Given the description of an element on the screen output the (x, y) to click on. 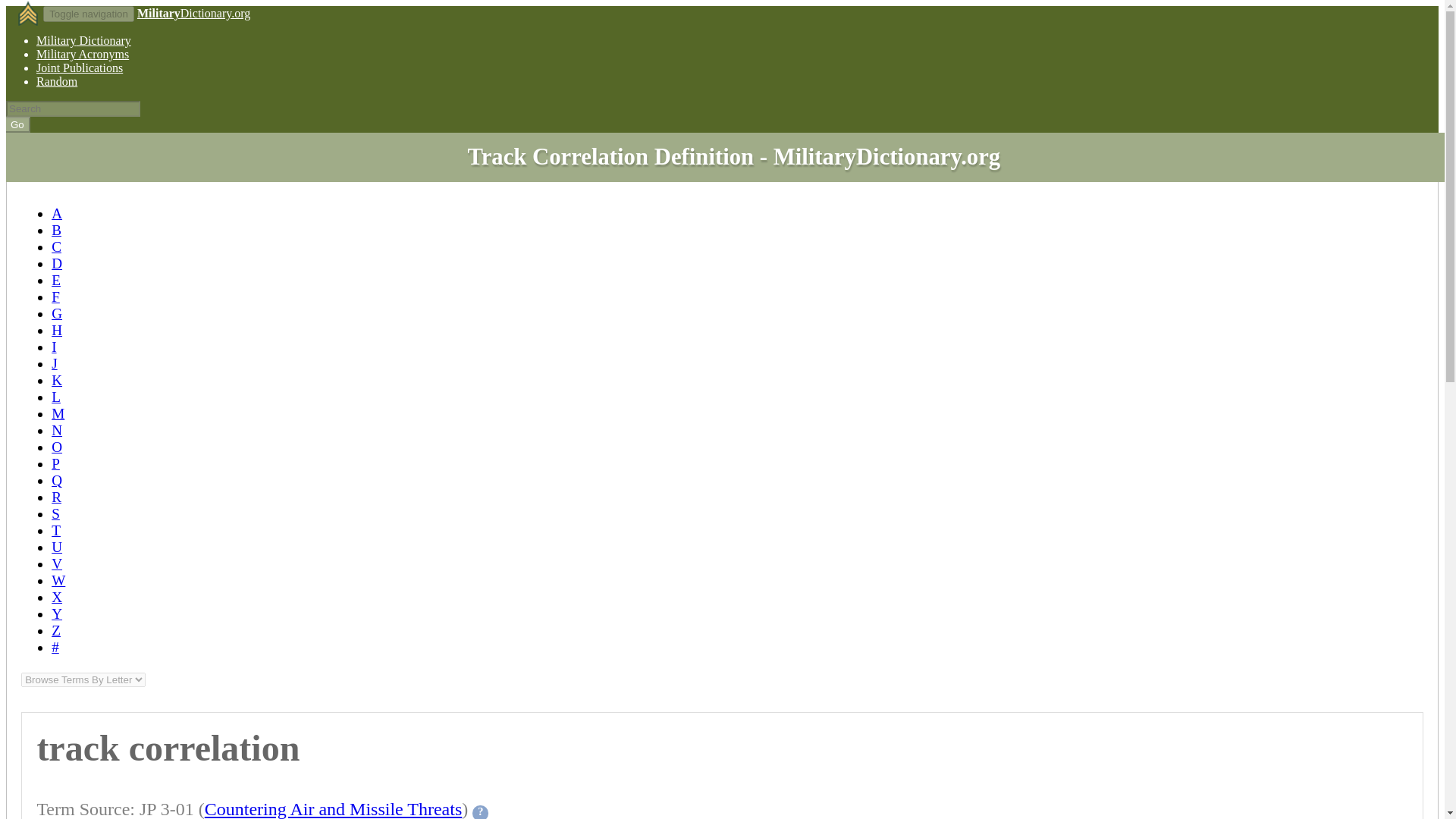
S (54, 513)
H (56, 330)
T (55, 530)
I (53, 346)
B (55, 229)
MilitaryDictionary.org (193, 12)
Random (56, 81)
F (54, 296)
M (57, 413)
Toggle navigation (88, 13)
V (56, 563)
Joint Publications (79, 67)
D (56, 263)
Military Dictionary (83, 40)
